Given the description of an element on the screen output the (x, y) to click on. 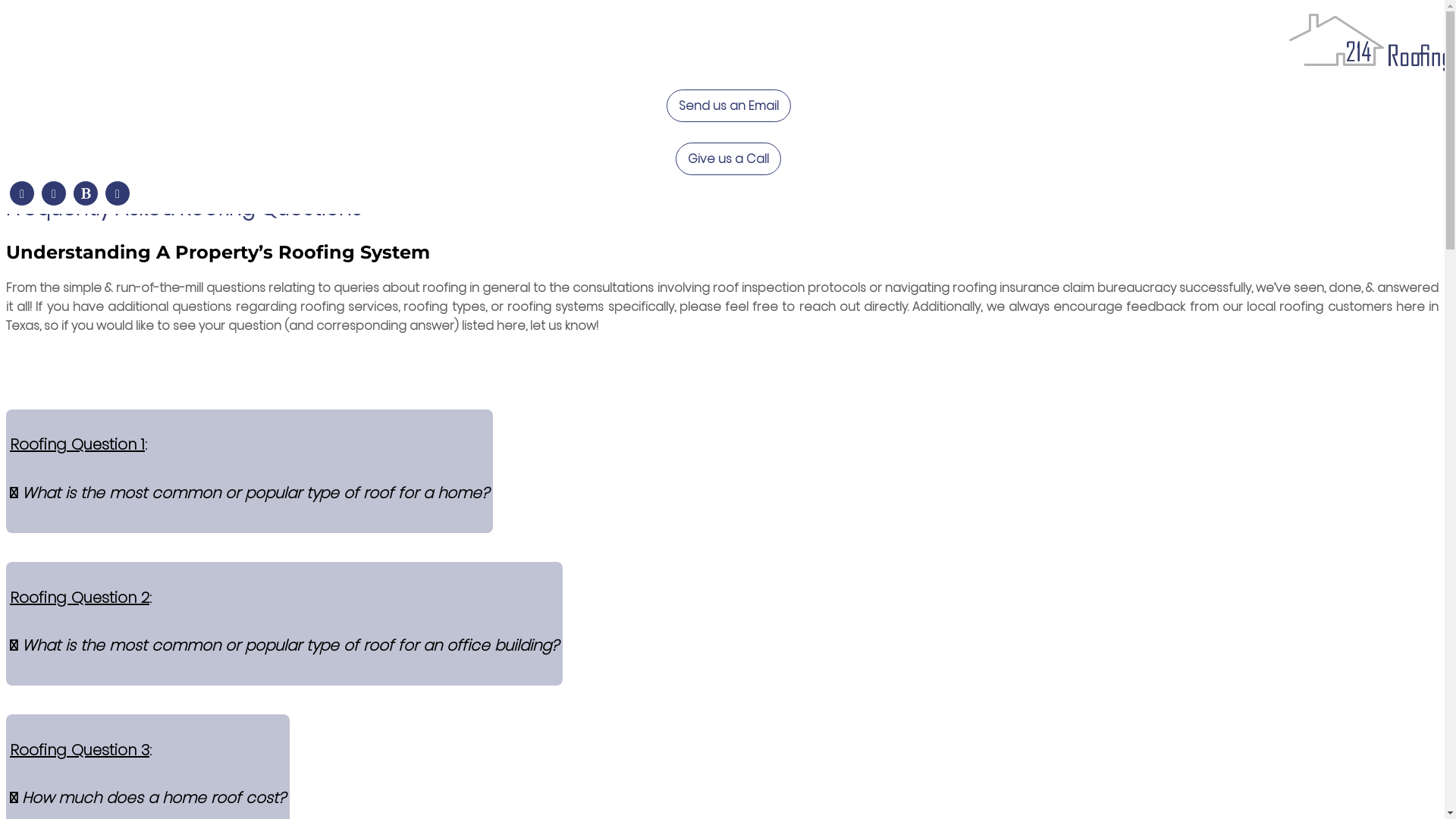
Contact Us Element type: text (1036, 99)
Give us a Call Element type: text (728, 158)
Roof Services Element type: text (408, 99)
Send us an Email Element type: text (727, 105)
Reviews Element type: text (939, 99)
Home Element type: text (310, 99)
Storm Damage Repair Element type: text (559, 99)
Photo Gallery Element type: text (834, 99)
Service Areas Element type: text (712, 99)
Roofing FAQ's Element type: text (1151, 99)
